Given the description of an element on the screen output the (x, y) to click on. 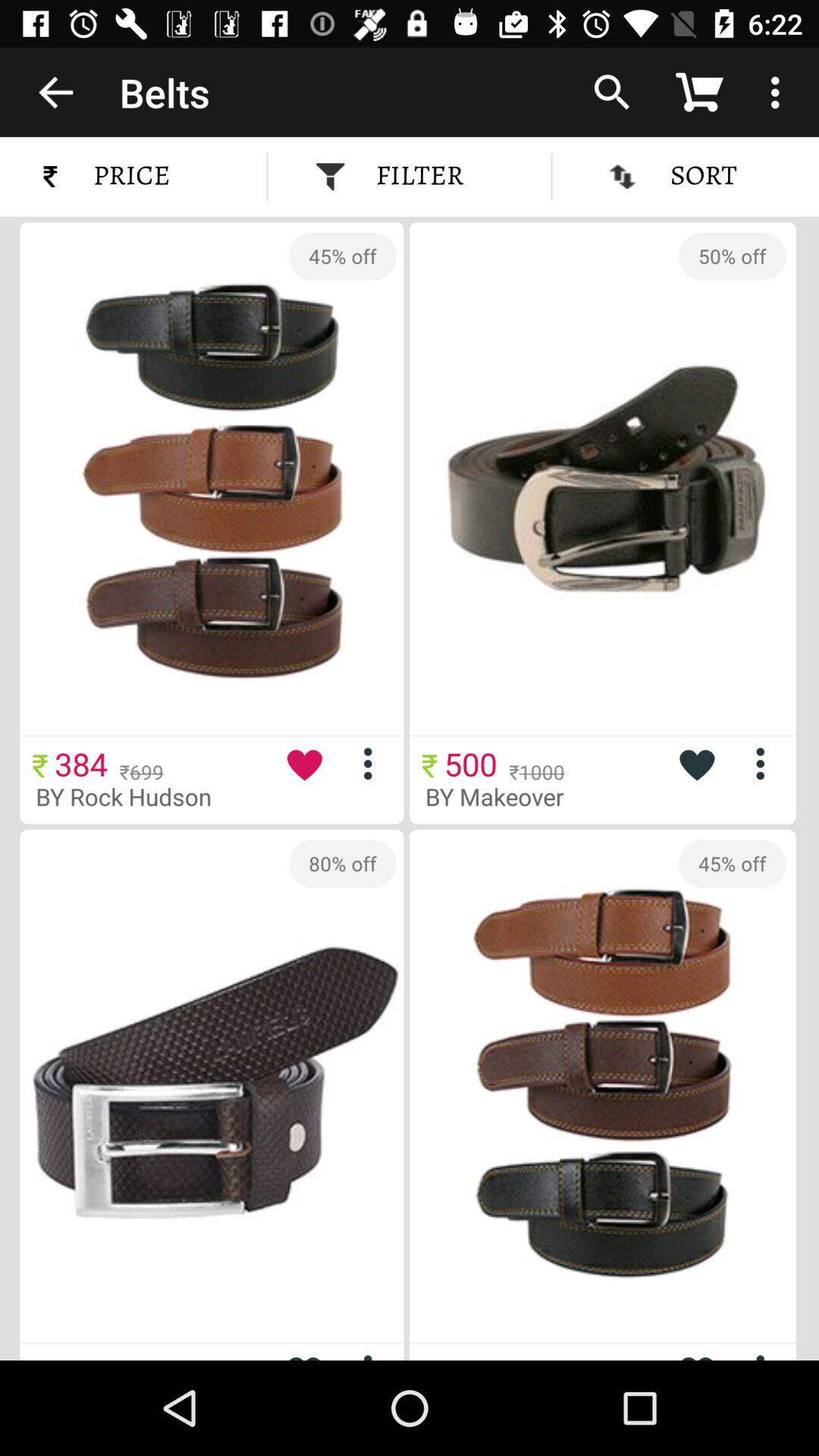
see more (373, 763)
